Given the description of an element on the screen output the (x, y) to click on. 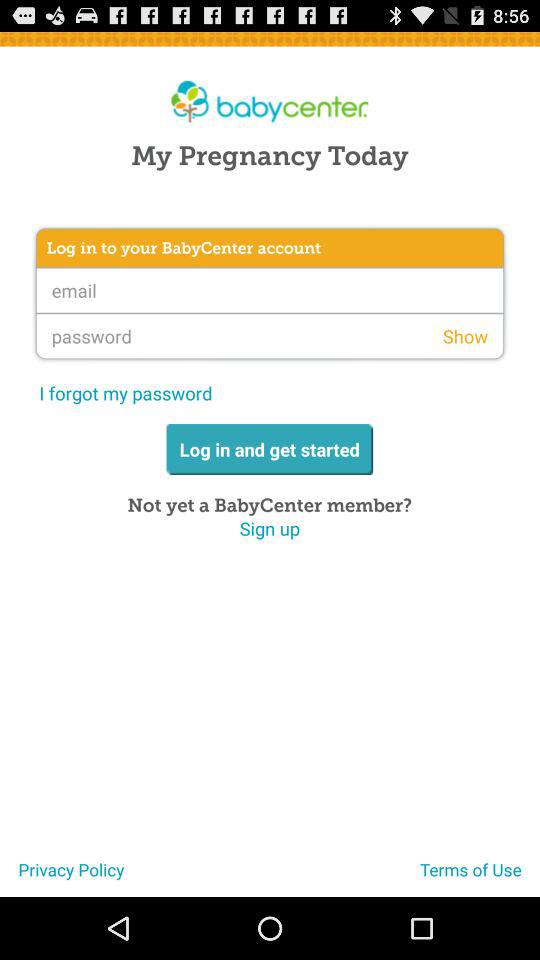
press item next to terms of use icon (62, 877)
